Given the description of an element on the screen output the (x, y) to click on. 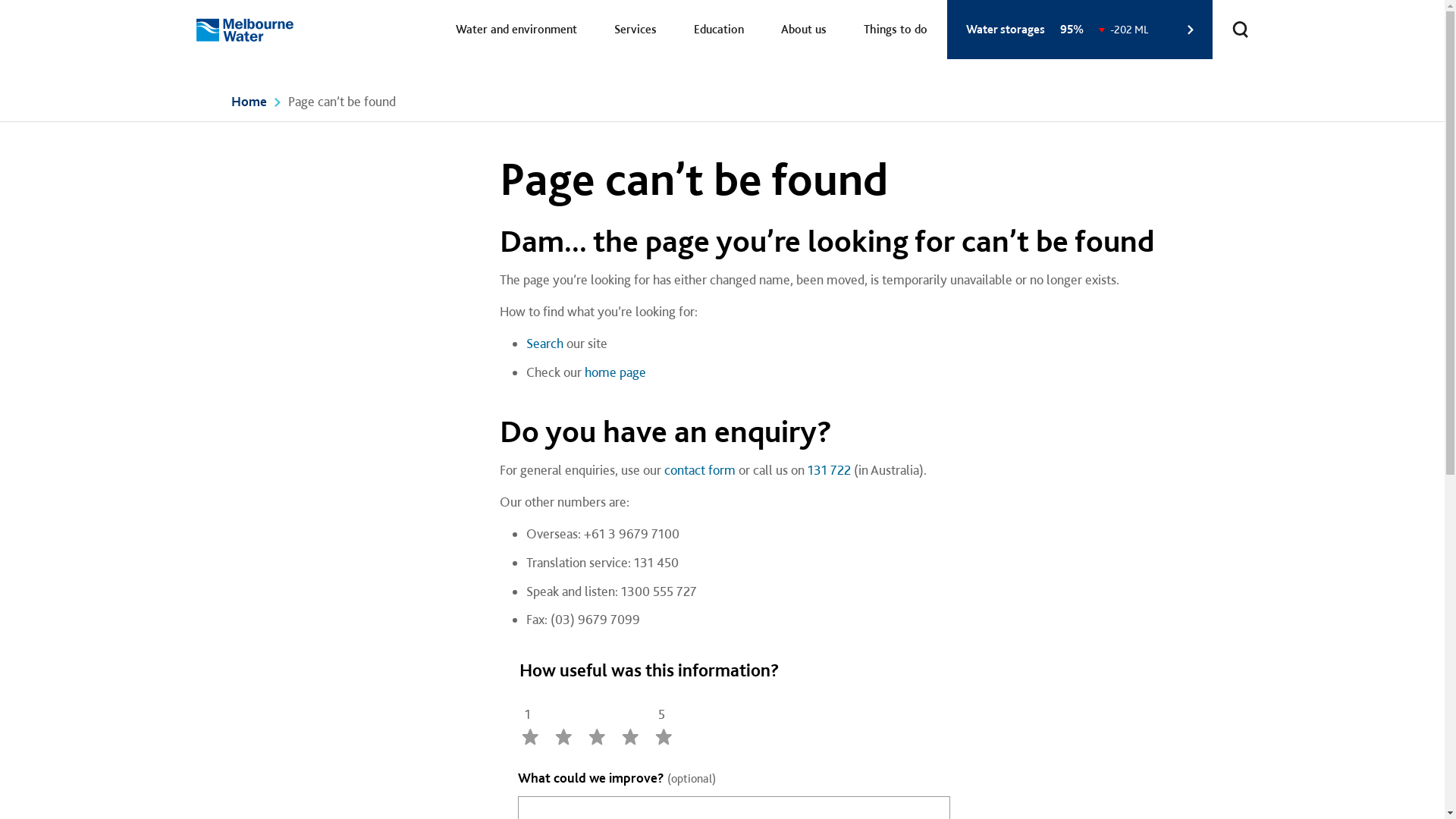
About us Element type: text (802, 31)
Home Element type: text (248, 101)
Things to do Element type: text (895, 31)
Education Element type: text (718, 31)
Toggle search Element type: text (1239, 29)
131 722 Element type: text (828, 469)
home page Element type: text (614, 371)
Water and environment Element type: text (515, 31)
contact form Element type: text (699, 469)
Search Element type: text (544, 343)
Services Element type: text (634, 31)
